Given the description of an element on the screen output the (x, y) to click on. 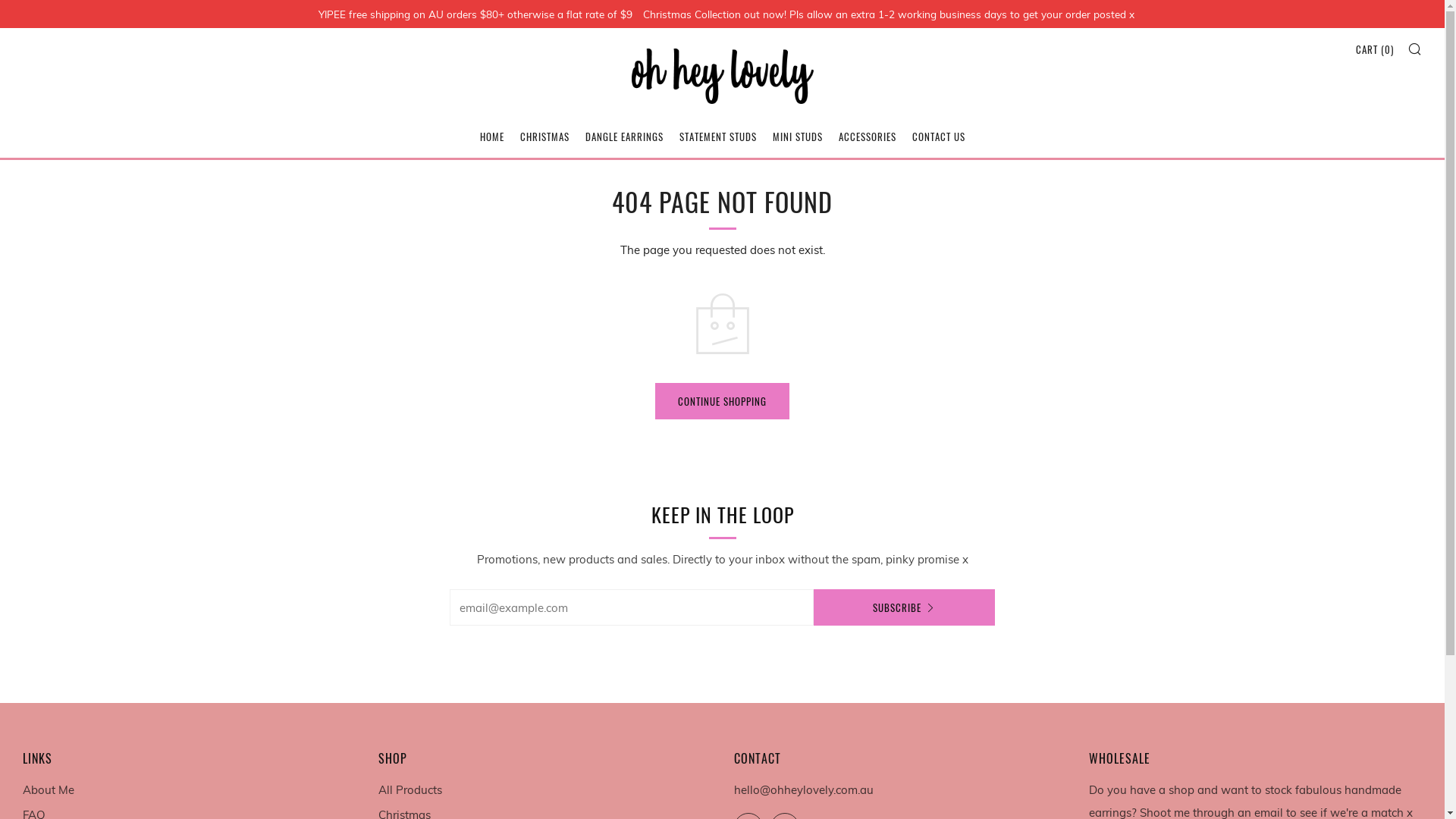
hello@ohheylovely.com.au Element type: text (803, 789)
MINI STUDS Element type: text (796, 136)
HOME Element type: text (491, 136)
CONTACT US Element type: text (937, 136)
STATEMENT STUDS Element type: text (717, 136)
CART (0) Element type: text (1374, 49)
About Me Element type: text (48, 789)
ACCESSORIES Element type: text (867, 136)
CHRISTMAS Element type: text (544, 136)
CONTINUE SHOPPING Element type: text (722, 400)
SUBSCRIBE Element type: text (903, 607)
All Products Element type: text (410, 789)
SEARCH Element type: text (1414, 48)
DANGLE EARRINGS Element type: text (624, 136)
